Given the description of an element on the screen output the (x, y) to click on. 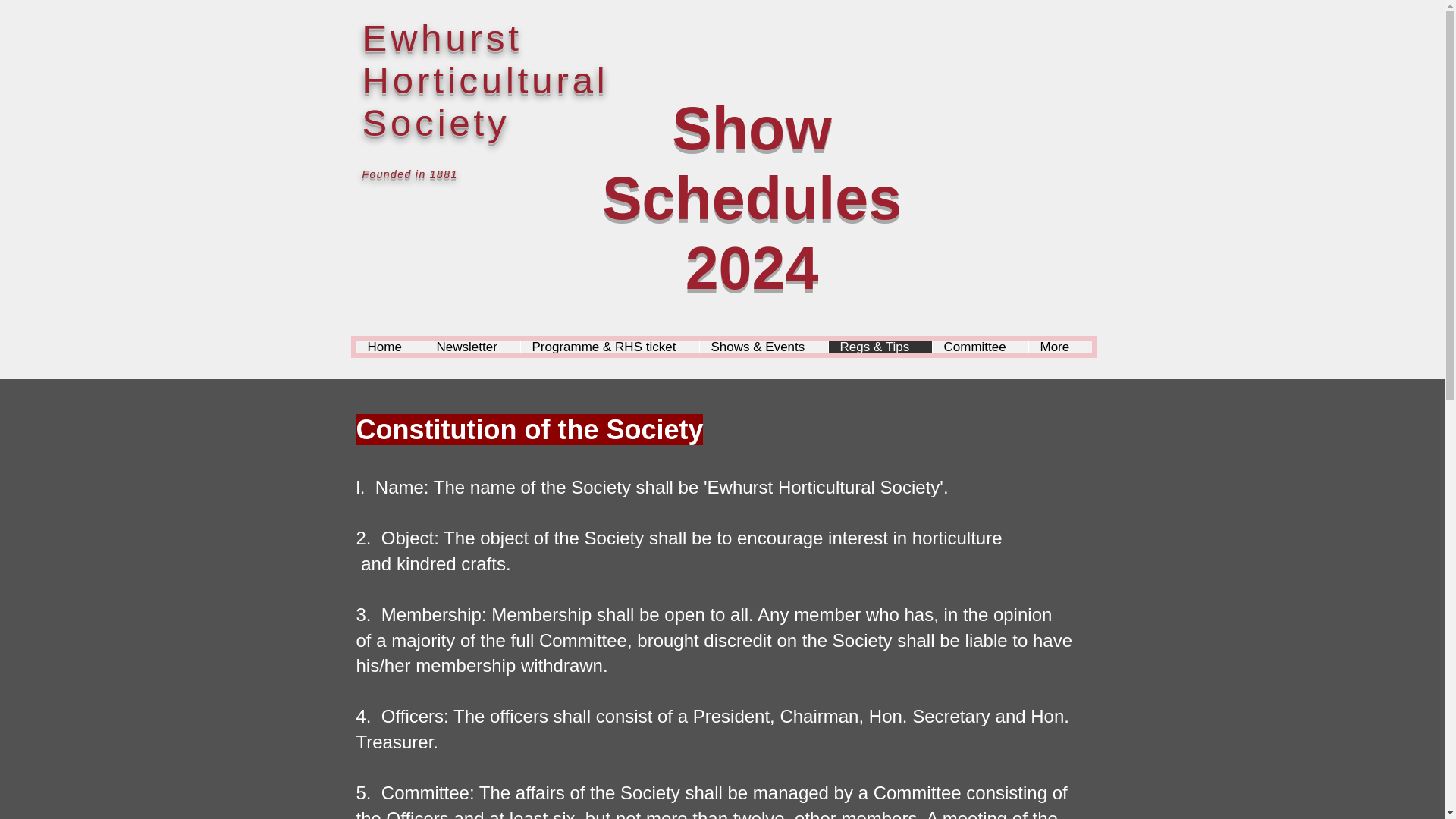
Ewhurst Horticultural Society (485, 80)
Home (390, 346)
Committee (979, 346)
Newsletter (472, 346)
